Given the description of an element on the screen output the (x, y) to click on. 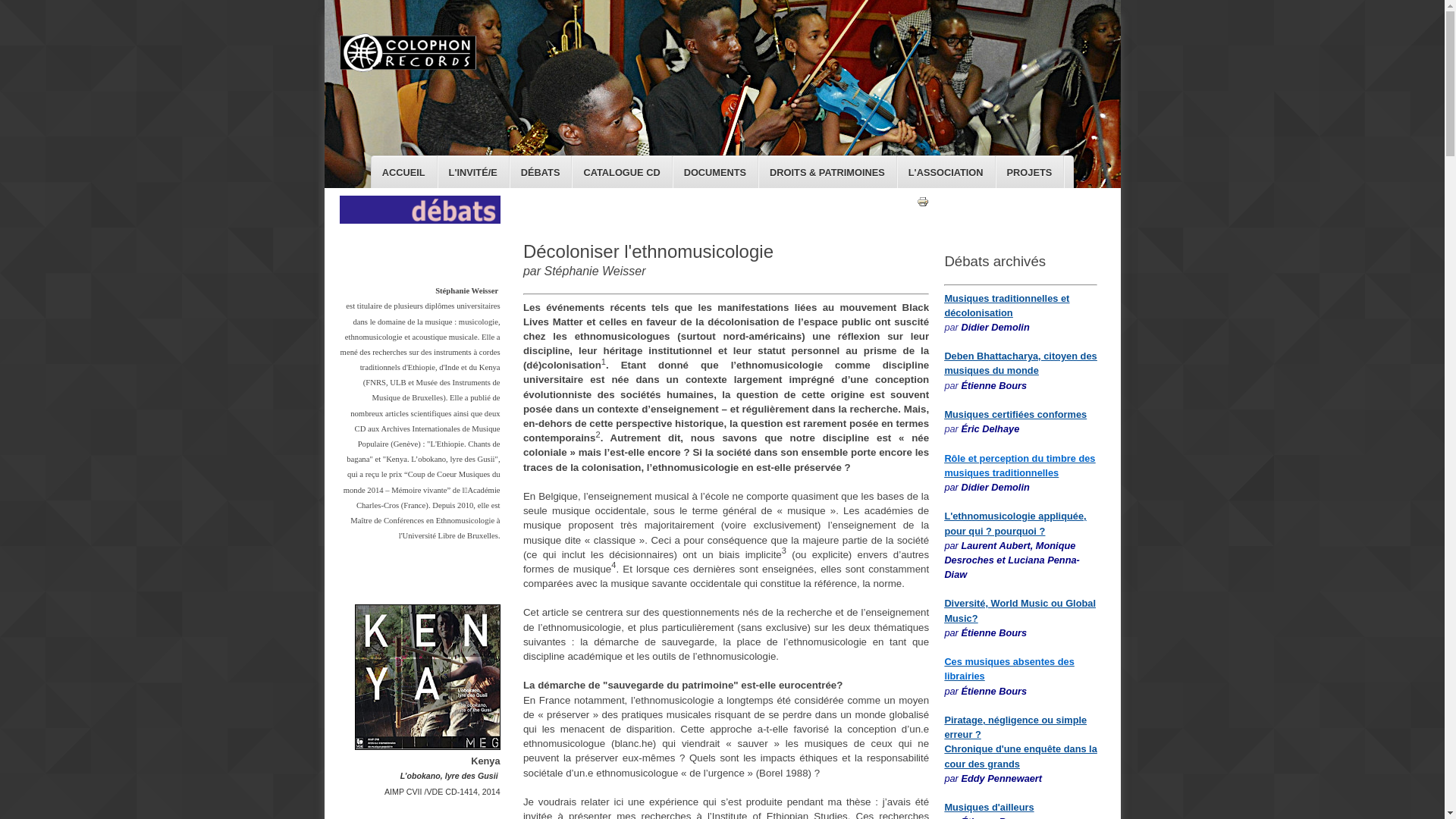
ACCUEIL Element type: text (403, 172)
Ces musiques absentes des librairies Element type: text (1008, 668)
L'ASSOCIATION Element type: text (946, 172)
DOCUMENTS Element type: text (715, 172)
DROITS & PATRIMOINES Element type: text (827, 172)
CATALOGUE CD Element type: text (621, 172)
PROJETS Element type: text (1029, 172)
Musiques d'ailleurs Element type: text (988, 806)
Deben Bhattacharya, citoyen des musiques du monde Element type: text (1020, 363)
